Given the description of an element on the screen output the (x, y) to click on. 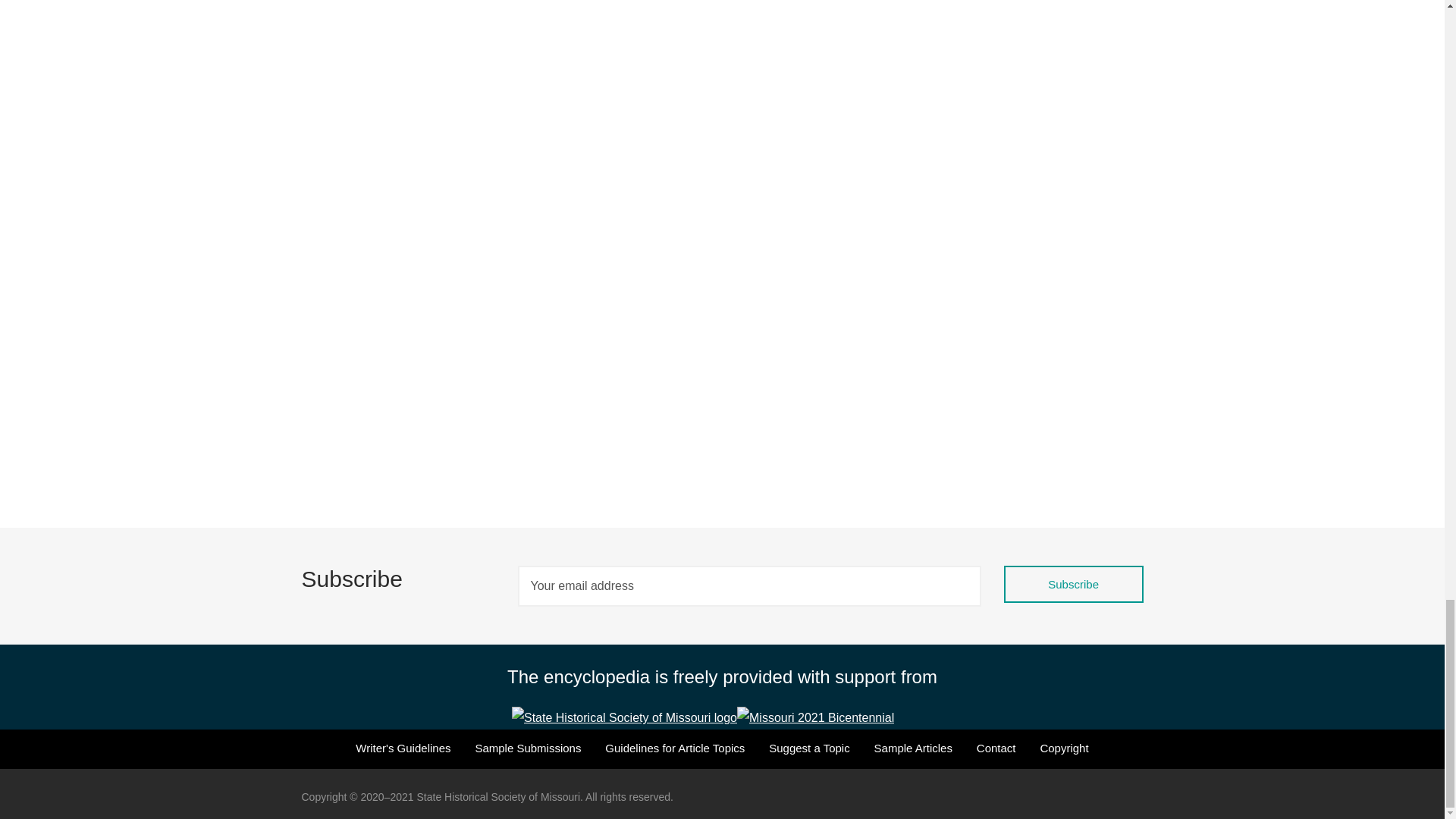
Your email address (747, 585)
Subscribe (1073, 583)
